Given the description of an element on the screen output the (x, y) to click on. 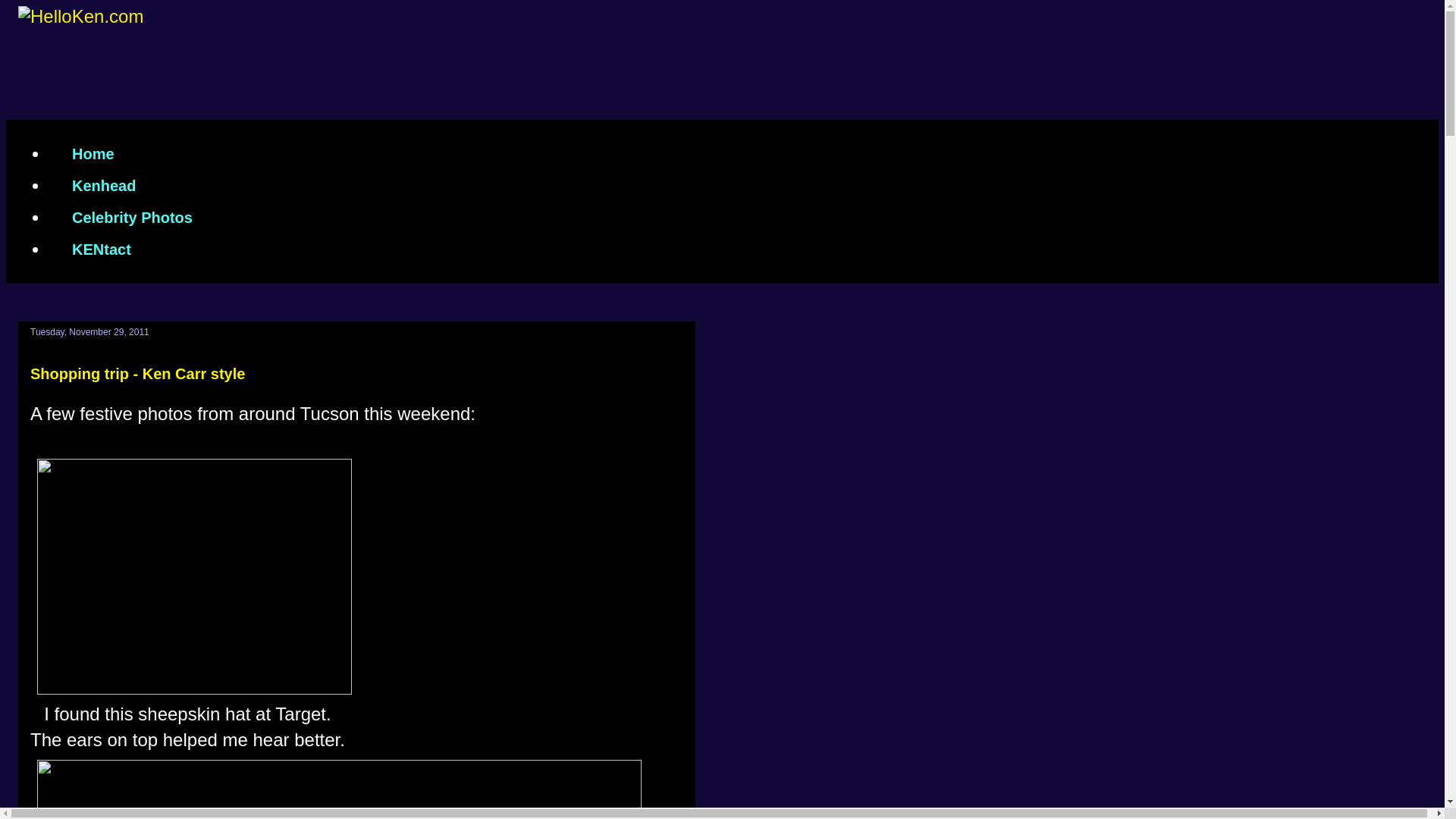
Celebrity Photos (131, 217)
Home (92, 153)
KENtact (101, 249)
Kenhead (103, 185)
